Given the description of an element on the screen output the (x, y) to click on. 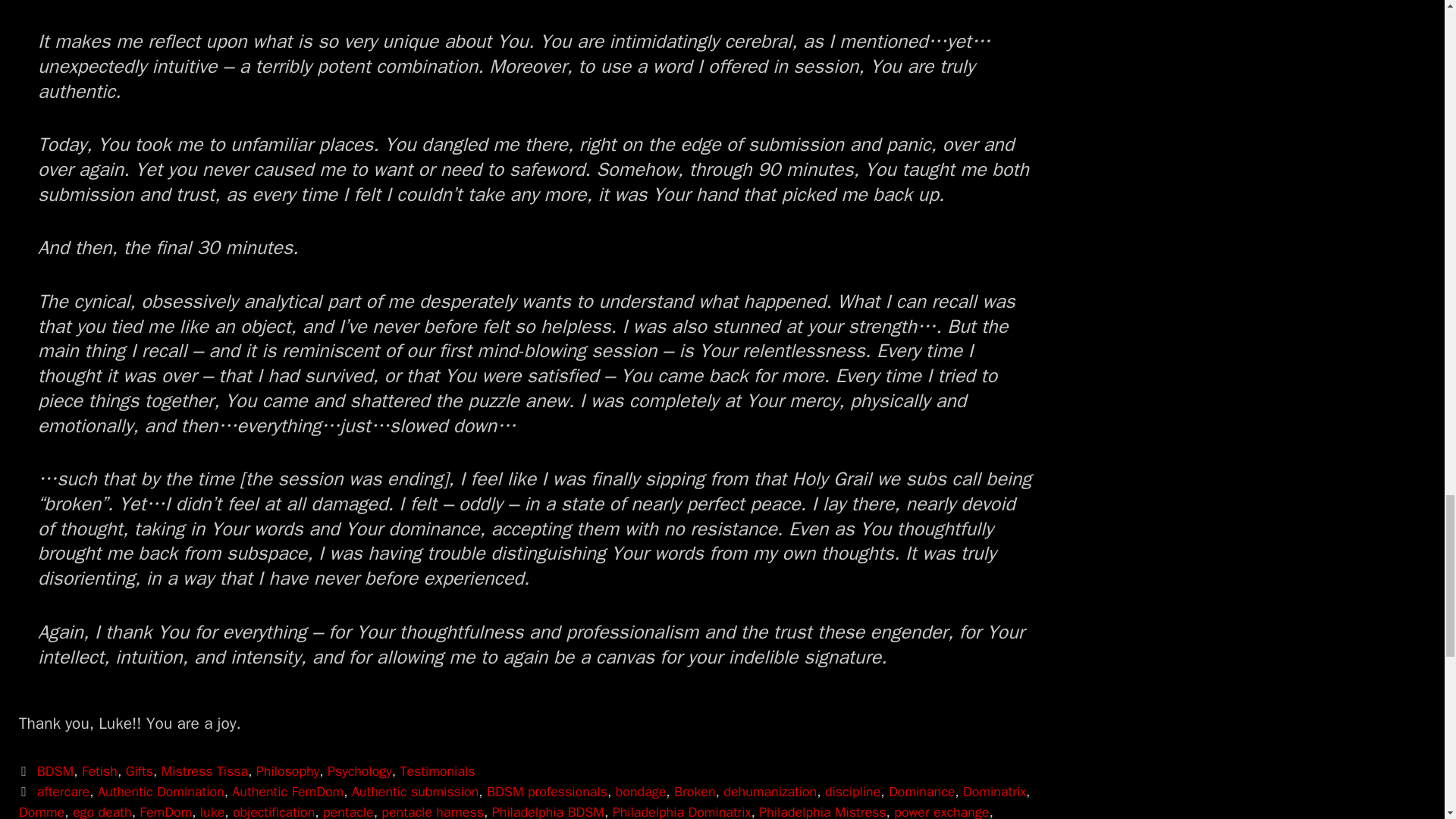
pentacle (348, 811)
Philosophy (287, 770)
Gifts (138, 770)
Broken (695, 791)
FemDom (165, 811)
Psychology (359, 770)
Authentic Domination (160, 791)
pentacle harness (432, 811)
ego death (102, 811)
discipline (852, 791)
BDSM professionals (546, 791)
Dominatrix (994, 791)
dehumanization (769, 791)
Philadelphia BDSM (548, 811)
Authentic submission (415, 791)
